Given the description of an element on the screen output the (x, y) to click on. 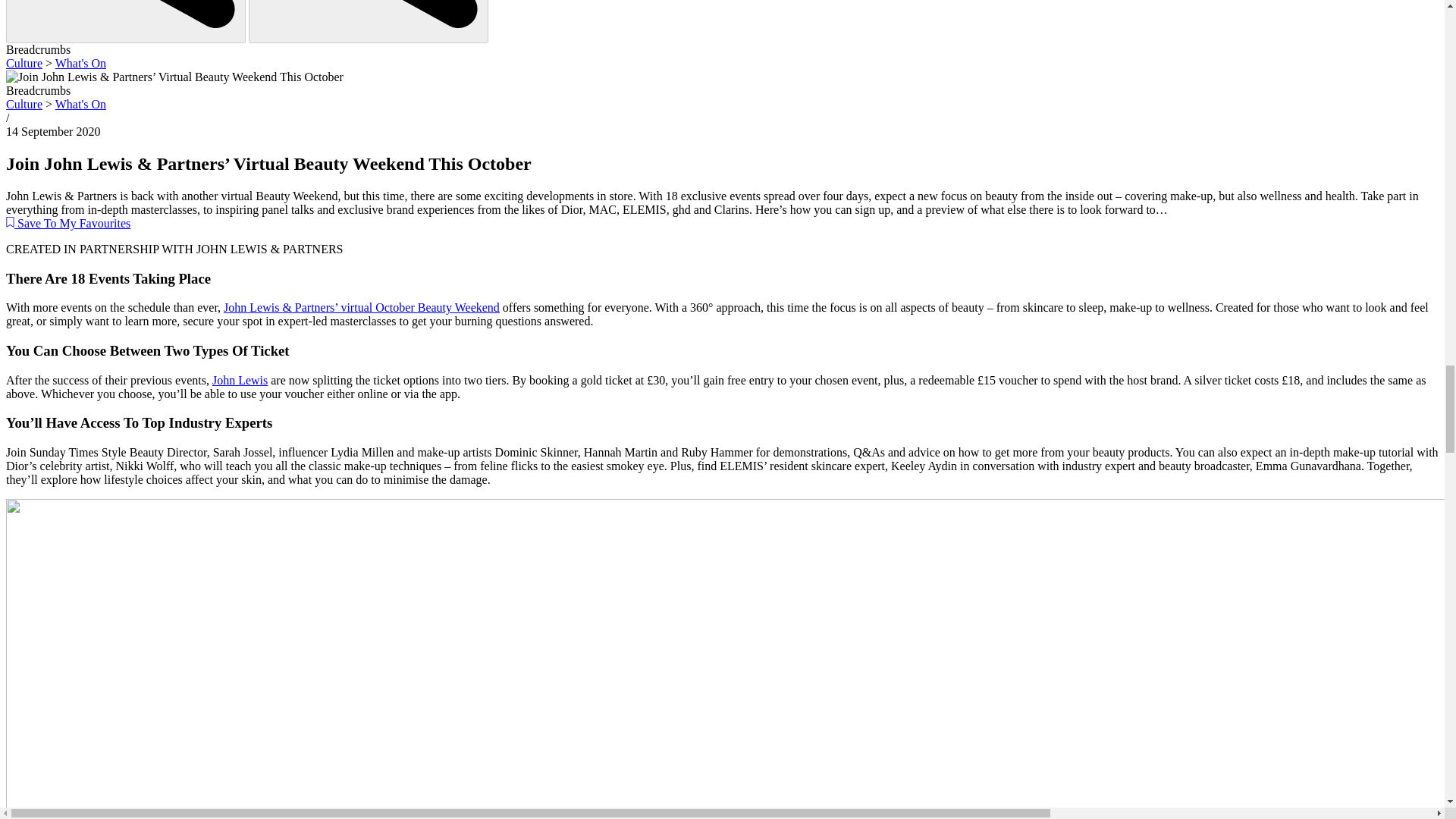
Add article to my favourites (68, 223)
